Given the description of an element on the screen output the (x, y) to click on. 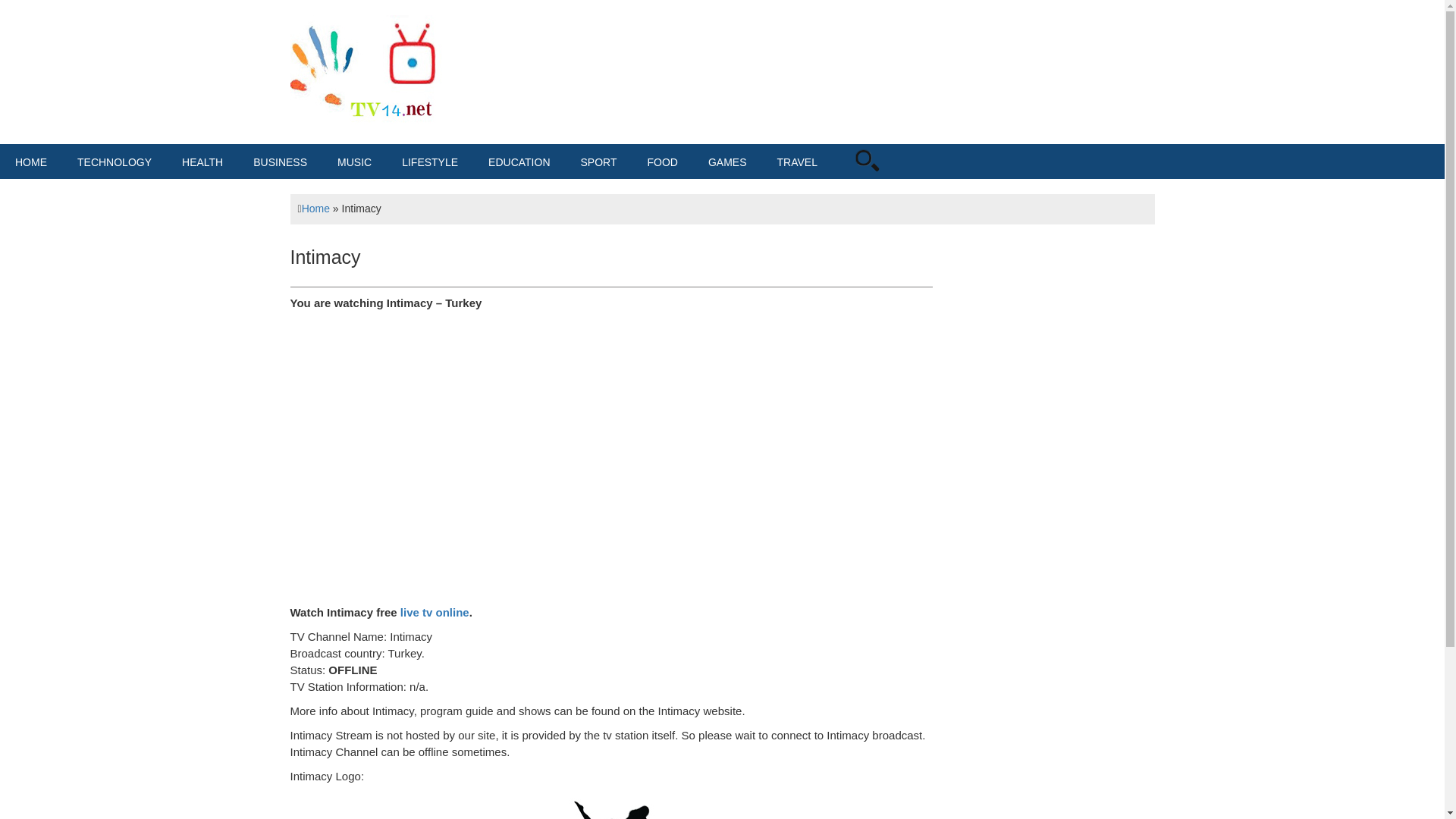
GAMES (727, 162)
MUSIC (354, 162)
HEALTH (202, 162)
LIFESTYLE (430, 162)
Advertisement (776, 64)
TECHNOLOGY (114, 162)
Home (315, 208)
TRAVEL (796, 162)
BUSINESS (279, 162)
EDUCATION (518, 162)
HOME (31, 162)
SPORT (598, 162)
live tv online (434, 612)
Search (887, 179)
FOOD (662, 162)
